Given the description of an element on the screen output the (x, y) to click on. 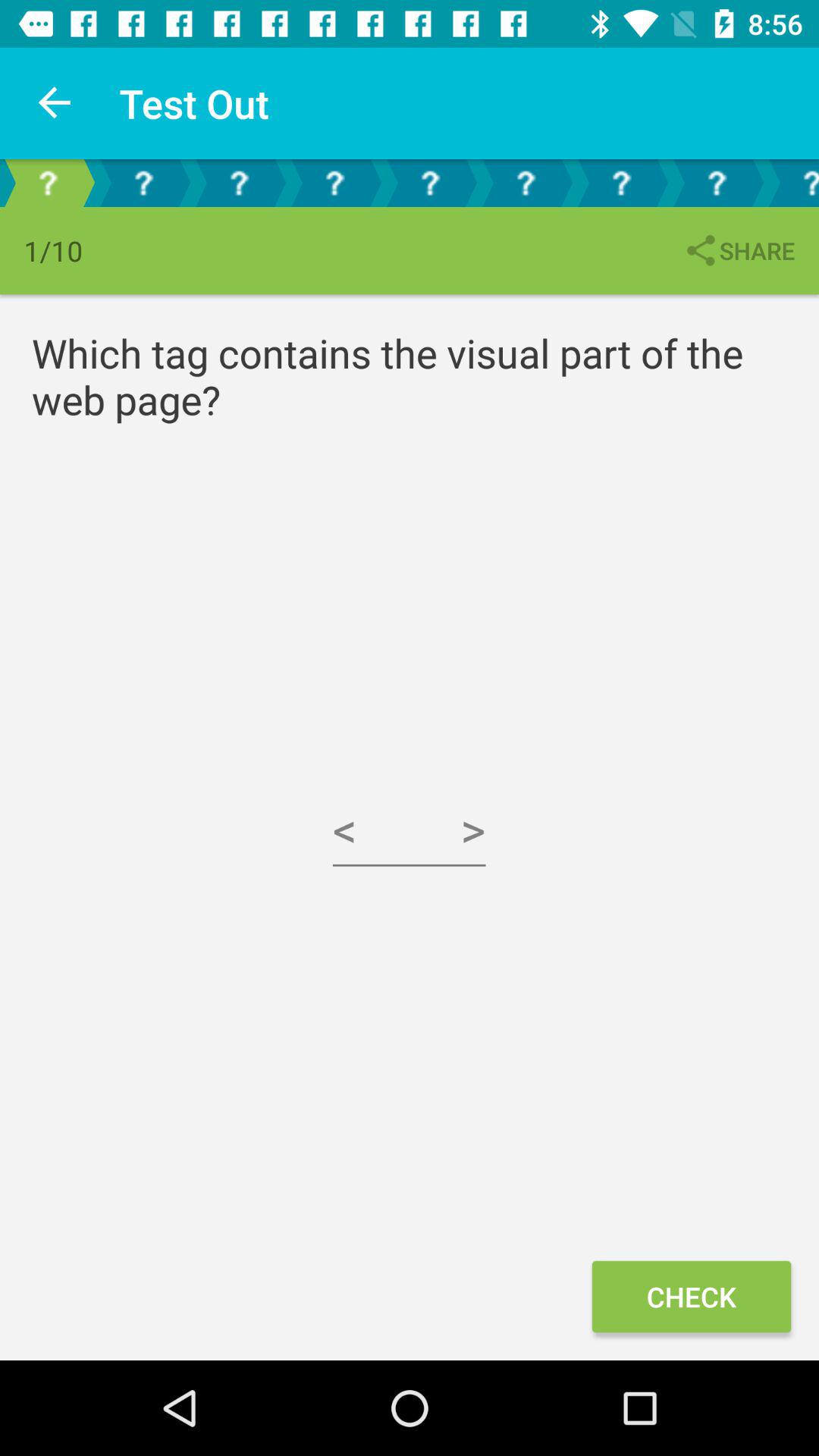
select question (429, 183)
